Given the description of an element on the screen output the (x, y) to click on. 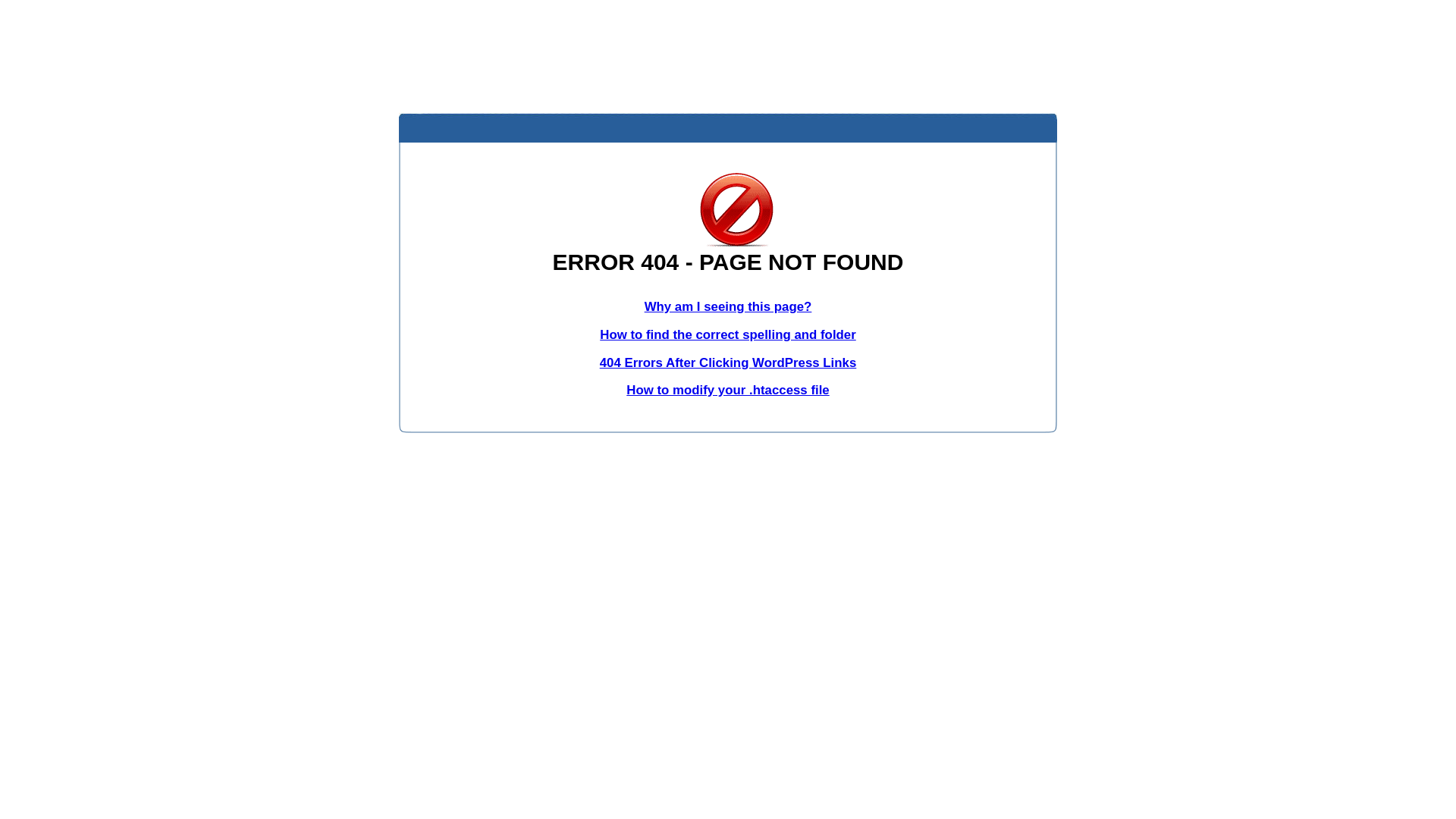
How to modify your .htaccess file Element type: text (727, 389)
How to find the correct spelling and folder Element type: text (727, 334)
Why am I seeing this page? Element type: text (728, 306)
404 Errors After Clicking WordPress Links Element type: text (727, 362)
